Given the description of an element on the screen output the (x, y) to click on. 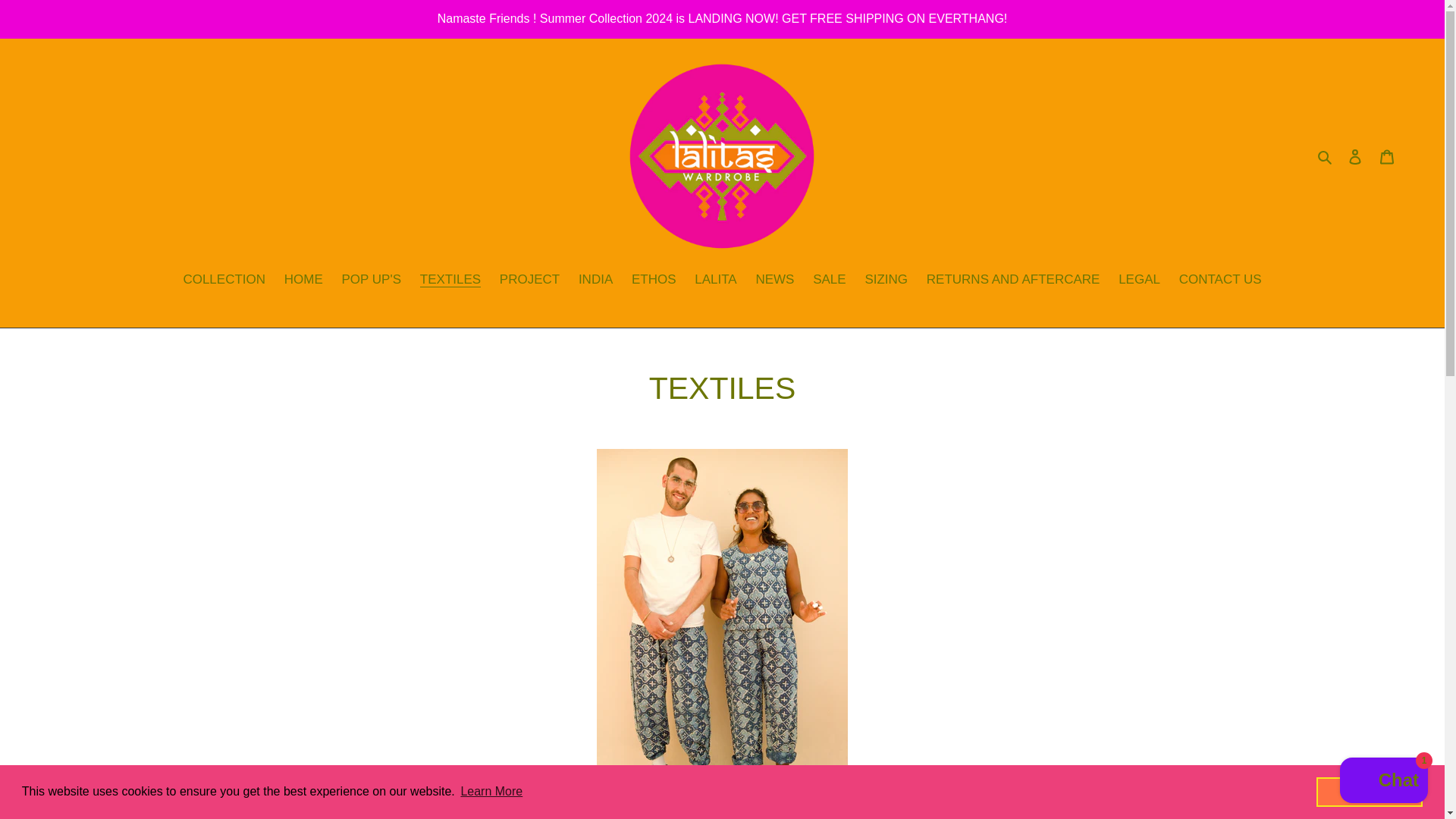
Search (1326, 156)
LALITA (715, 280)
SALE (829, 280)
Cart (1387, 155)
INDIA (595, 280)
TEXTILES (449, 280)
COLLECTION (223, 280)
NEWS (775, 280)
Shopify online store chat (1383, 781)
Got it! (1369, 791)
POP UP'S (371, 280)
Learn More (491, 791)
ETHOS (654, 280)
HOME (303, 280)
